Given the description of an element on the screen output the (x, y) to click on. 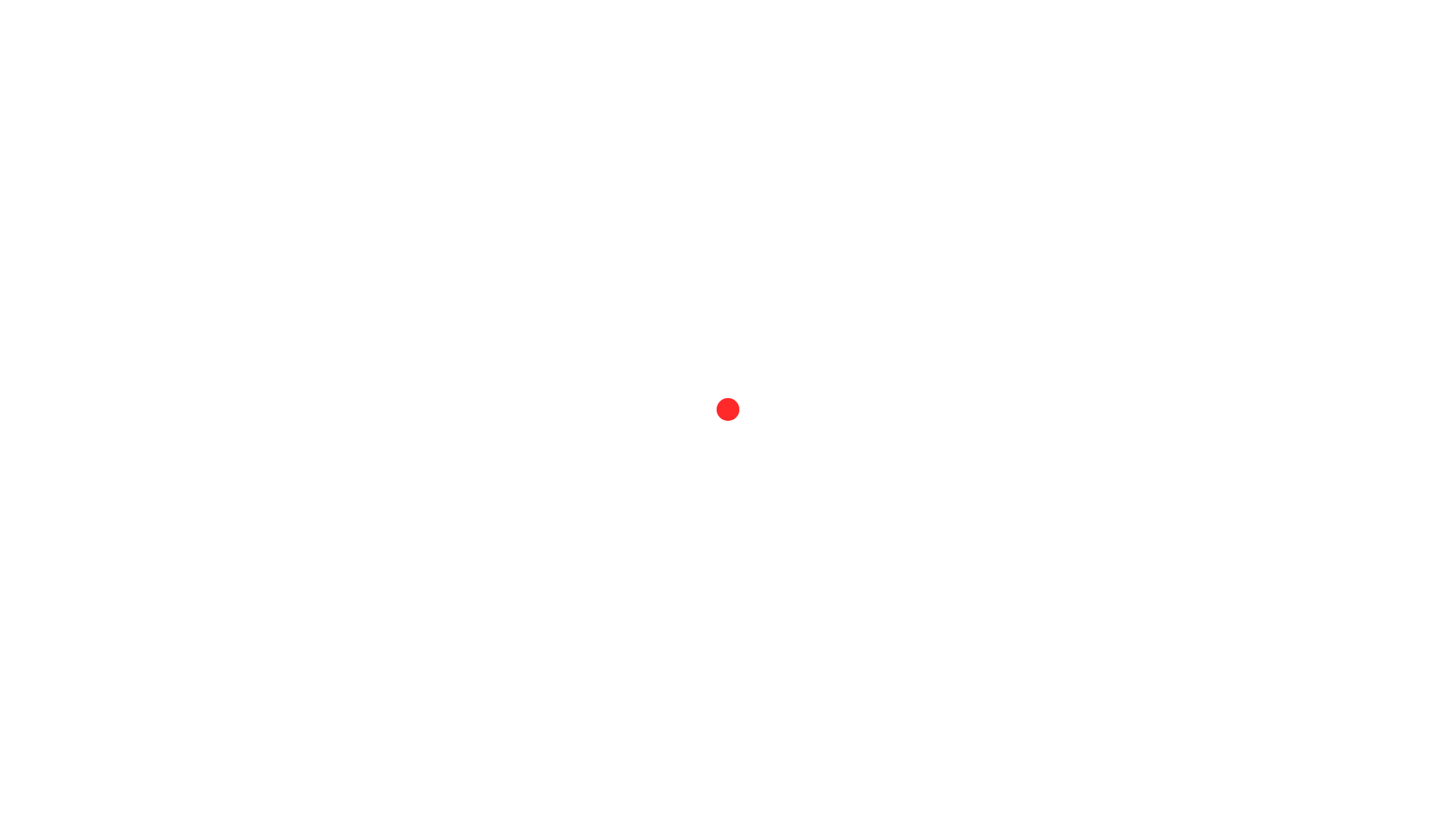
Sydney Element type: text (540, 363)
Skip to content Element type: text (0, 0)
LMCT Application Services Element type: hover (431, 41)
Contact Element type: text (1131, 42)
Proudly powered by WordPress Element type: text (380, 363)
Click to open a larger map Element type: hover (1038, 218)
Hello world! Element type: text (609, 113)
OCTOBER 19, 2018 Element type: text (639, 148)
Home Element type: text (1077, 42)
Click to open a larger map Element type: hover (1038, 219)
UNCATEGORIZED Element type: text (609, 81)
contact@lmctapplications.com.au Element type: text (1051, 136)
